Given the description of an element on the screen output the (x, y) to click on. 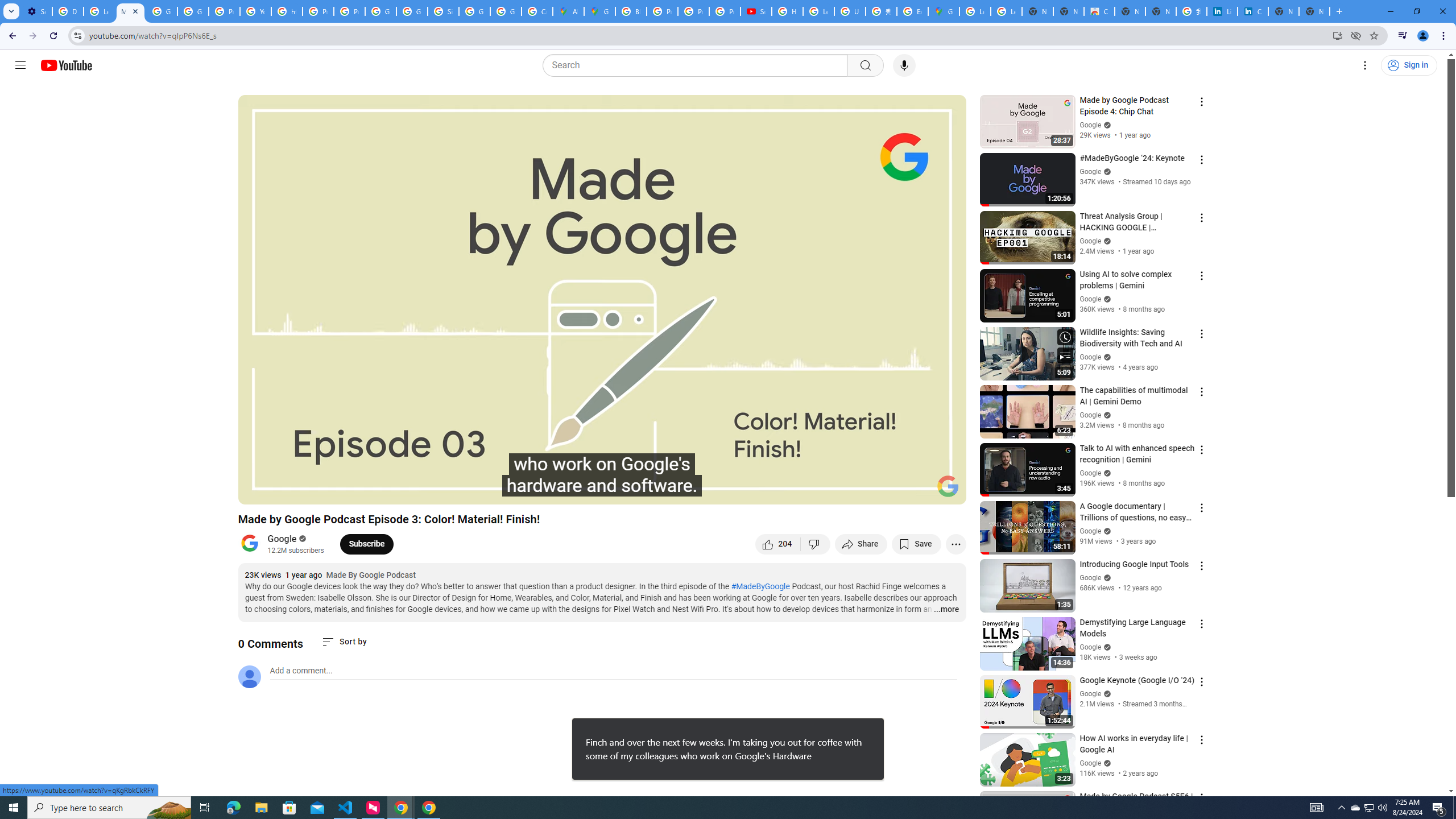
More actions (955, 543)
Save to playlist (915, 543)
Privacy Help Center - Policies Help (318, 11)
Subtitles/closed captions unavailable (836, 490)
New Tab (1314, 11)
Seek slider (601, 476)
Share (861, 543)
Create your Google Account (536, 11)
